Given the description of an element on the screen output the (x, y) to click on. 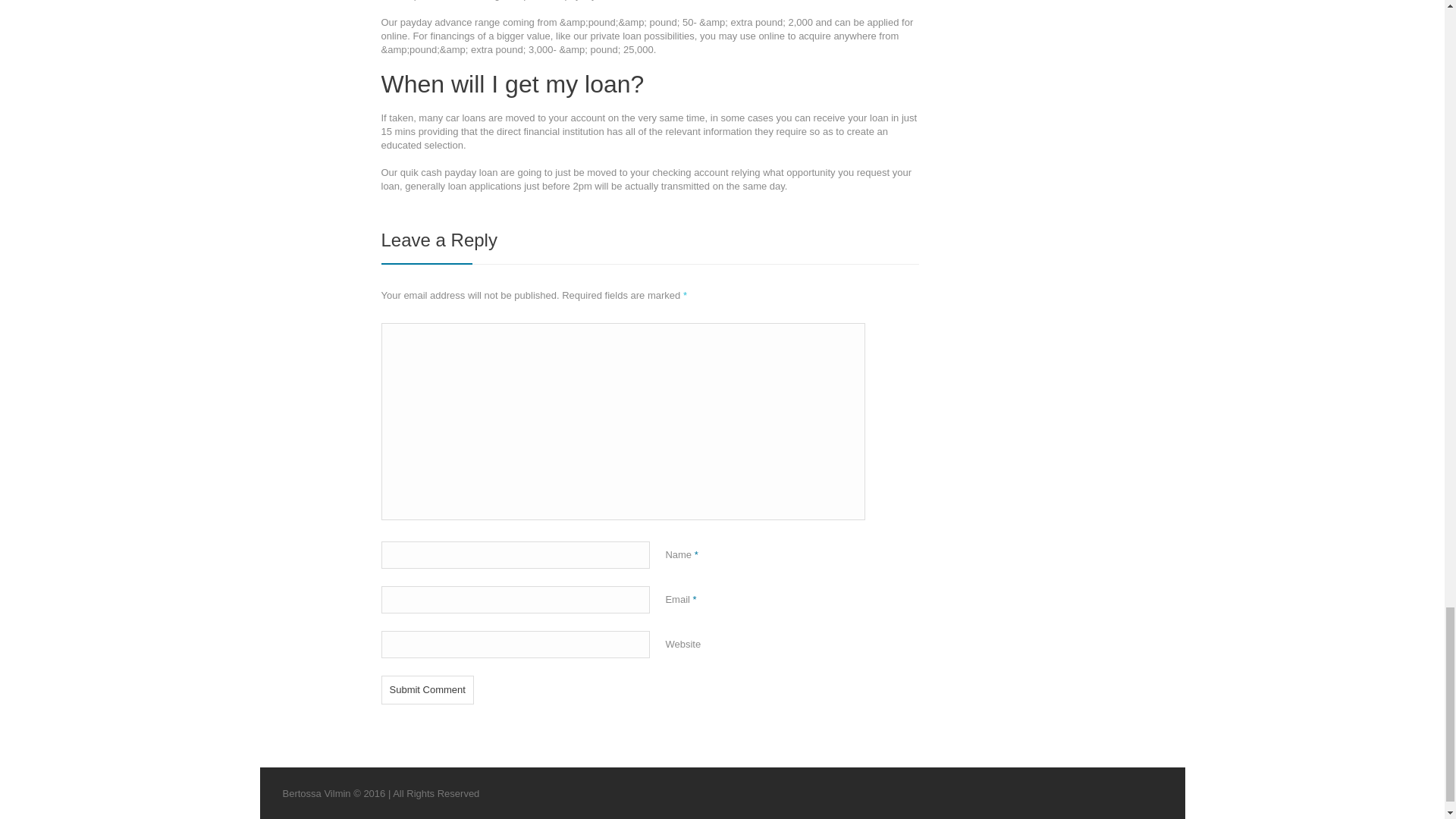
Submit Comment (426, 689)
Submit Comment (426, 689)
